Given the description of an element on the screen output the (x, y) to click on. 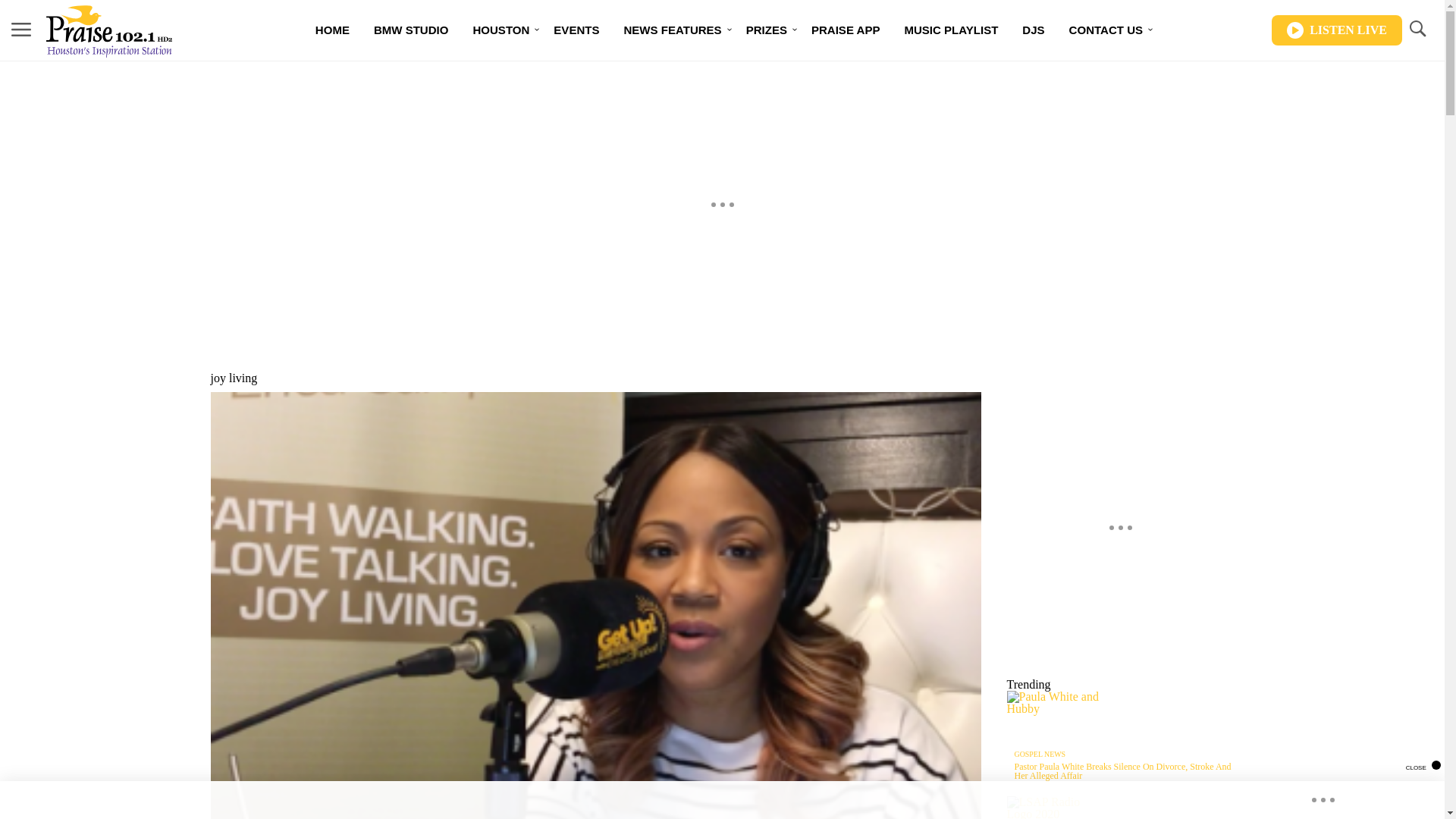
MENU (20, 29)
CONTACT US (1105, 30)
PRAISE APP (845, 30)
DJS (1033, 30)
MENU (20, 30)
TOGGLE SEARCH (1417, 30)
LISTEN LIVE (1336, 30)
NEWS FEATURES (672, 30)
HOME (331, 30)
PRIZES (766, 30)
HOUSTON (500, 30)
TOGGLE SEARCH (1417, 28)
EVENTS (576, 30)
MUSIC PLAYLIST (950, 30)
BMW STUDIO (411, 30)
